Given the description of an element on the screen output the (x, y) to click on. 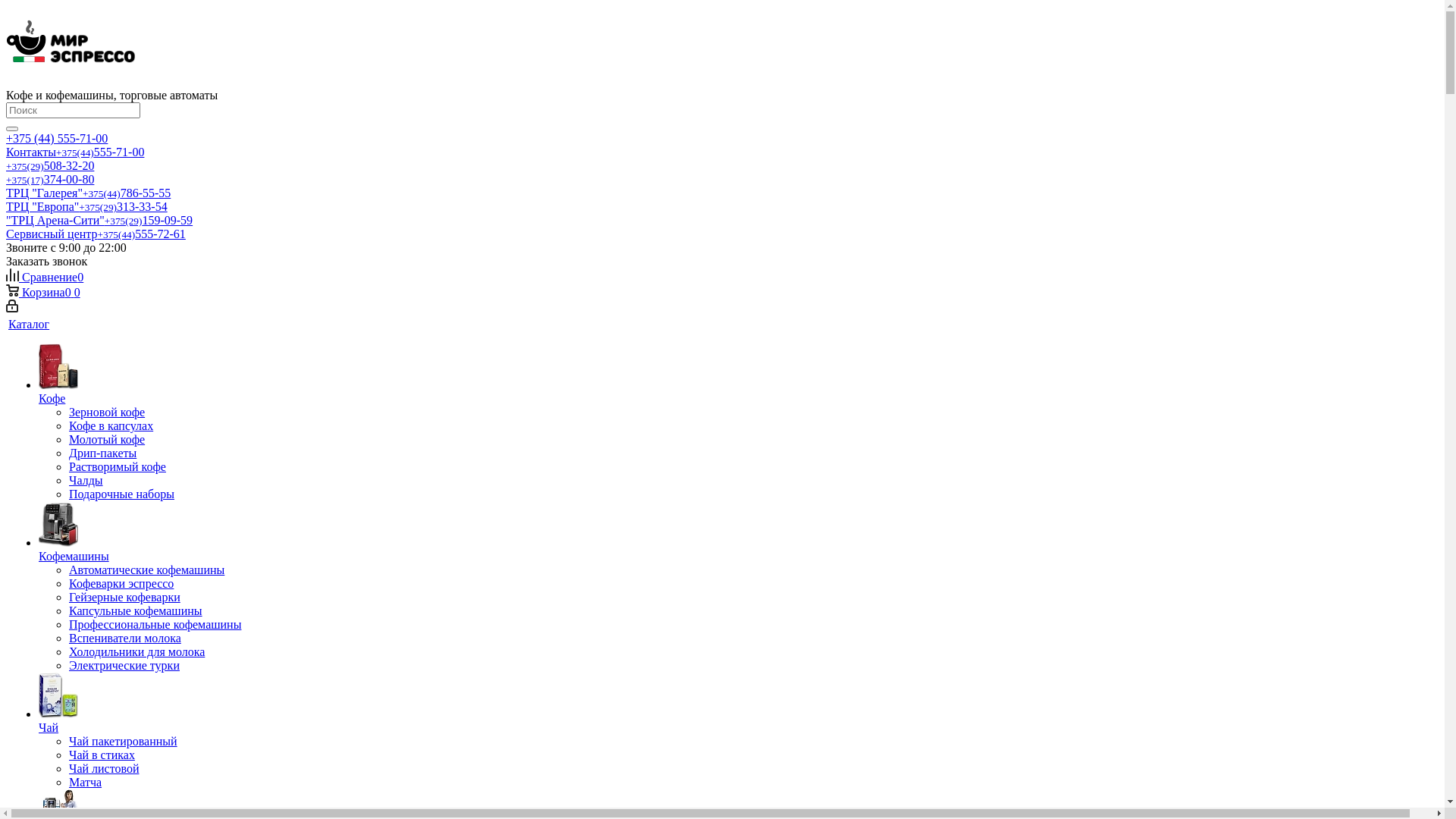
+375(17)374-00-80 Element type: text (50, 178)
+375(29)508-32-20 Element type: text (50, 165)
+375 (44) 555-71-00 Element type: text (56, 137)
